Given the description of an element on the screen output the (x, y) to click on. 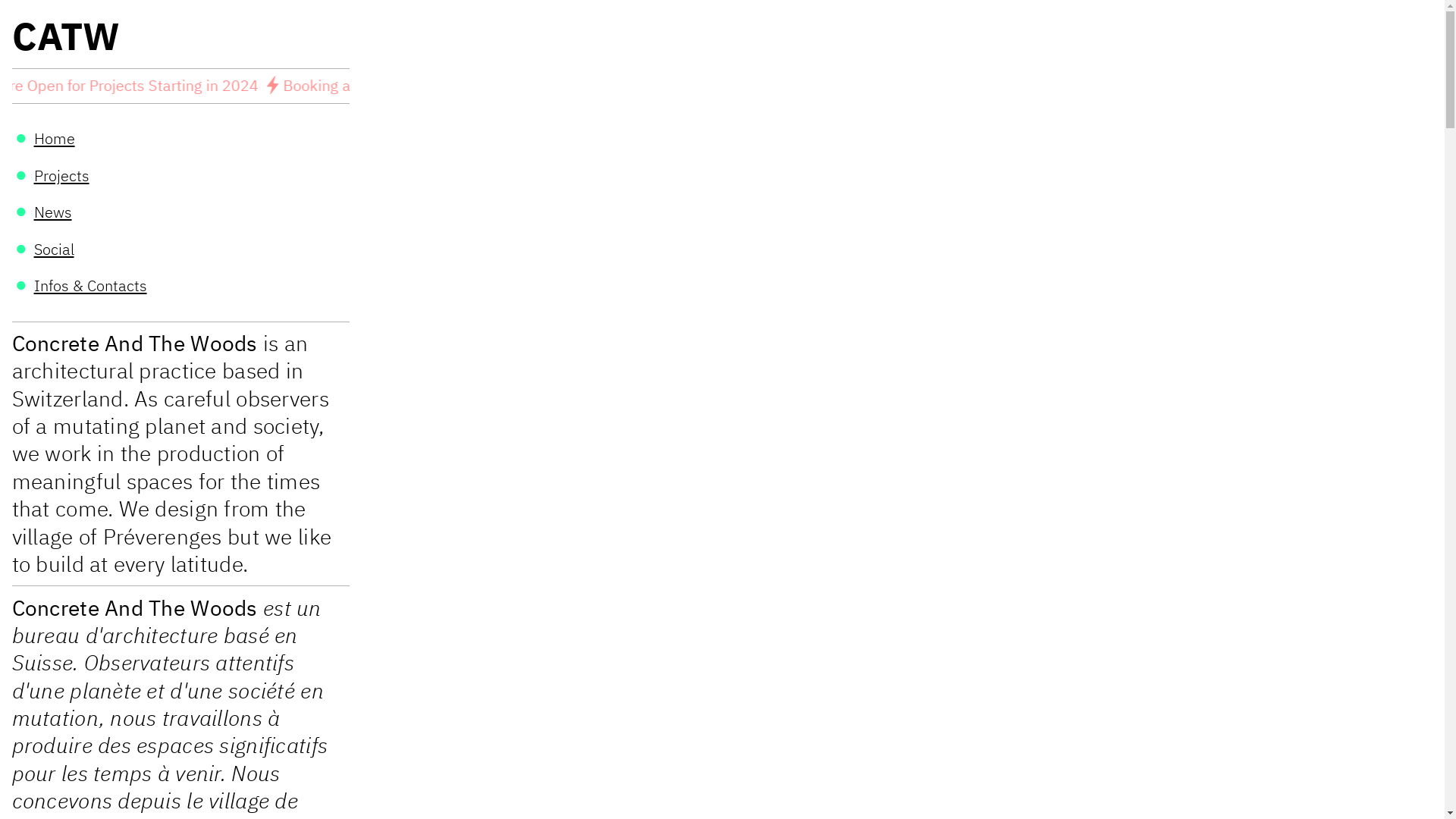
Projects Element type: text (61, 175)
Infos & Contacts Element type: text (90, 285)
News Element type: text (53, 211)
Social Element type: text (54, 248)
Home Element type: text (54, 138)
